Given the description of an element on the screen output the (x, y) to click on. 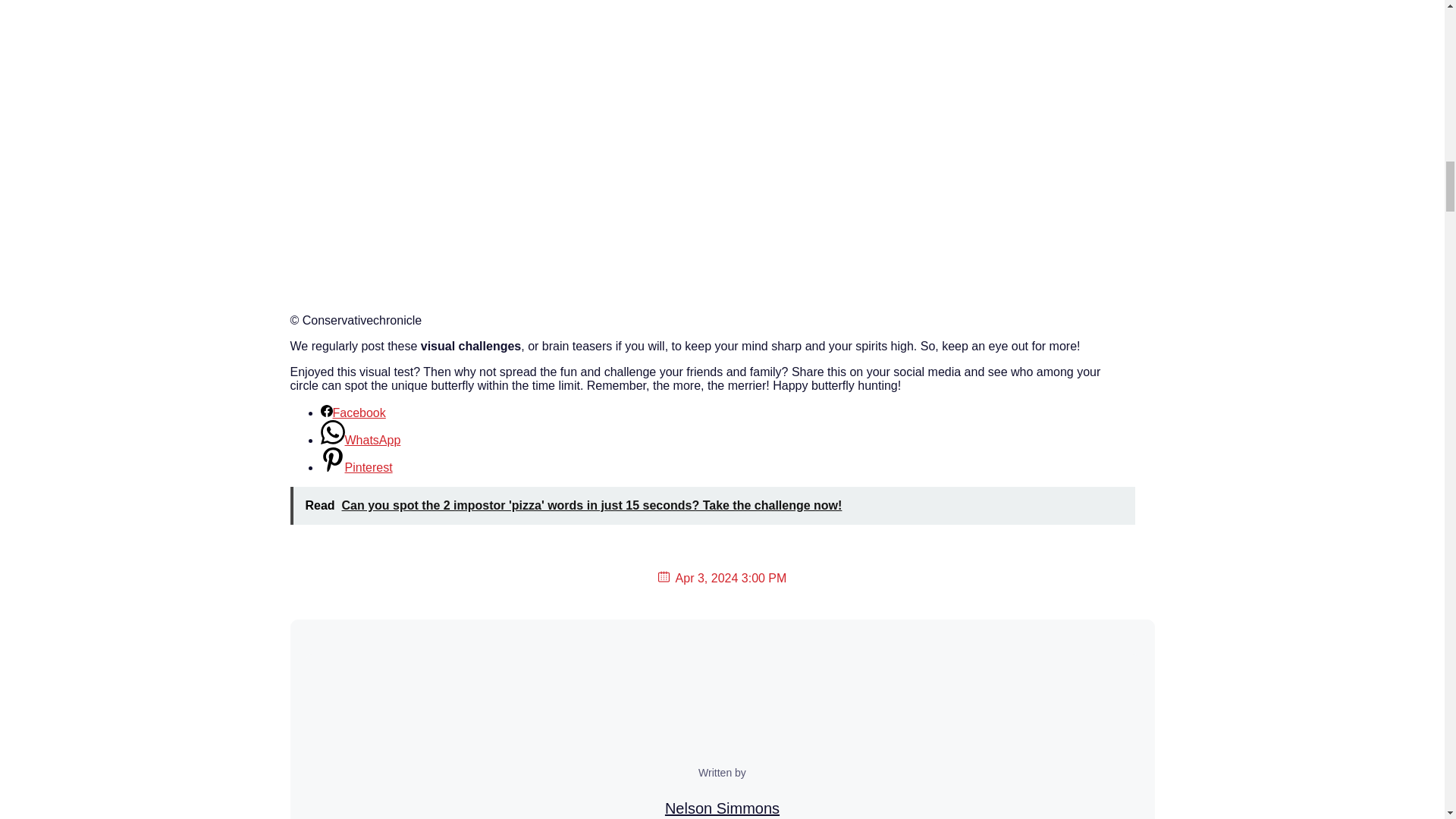
Nelson Simmons (721, 808)
Share on WhatsApp (360, 440)
Share on Pinterest (355, 467)
WhatsApp (360, 440)
Facebook (352, 412)
Pinterest (355, 467)
Share on Facebook (352, 412)
